Given the description of an element on the screen output the (x, y) to click on. 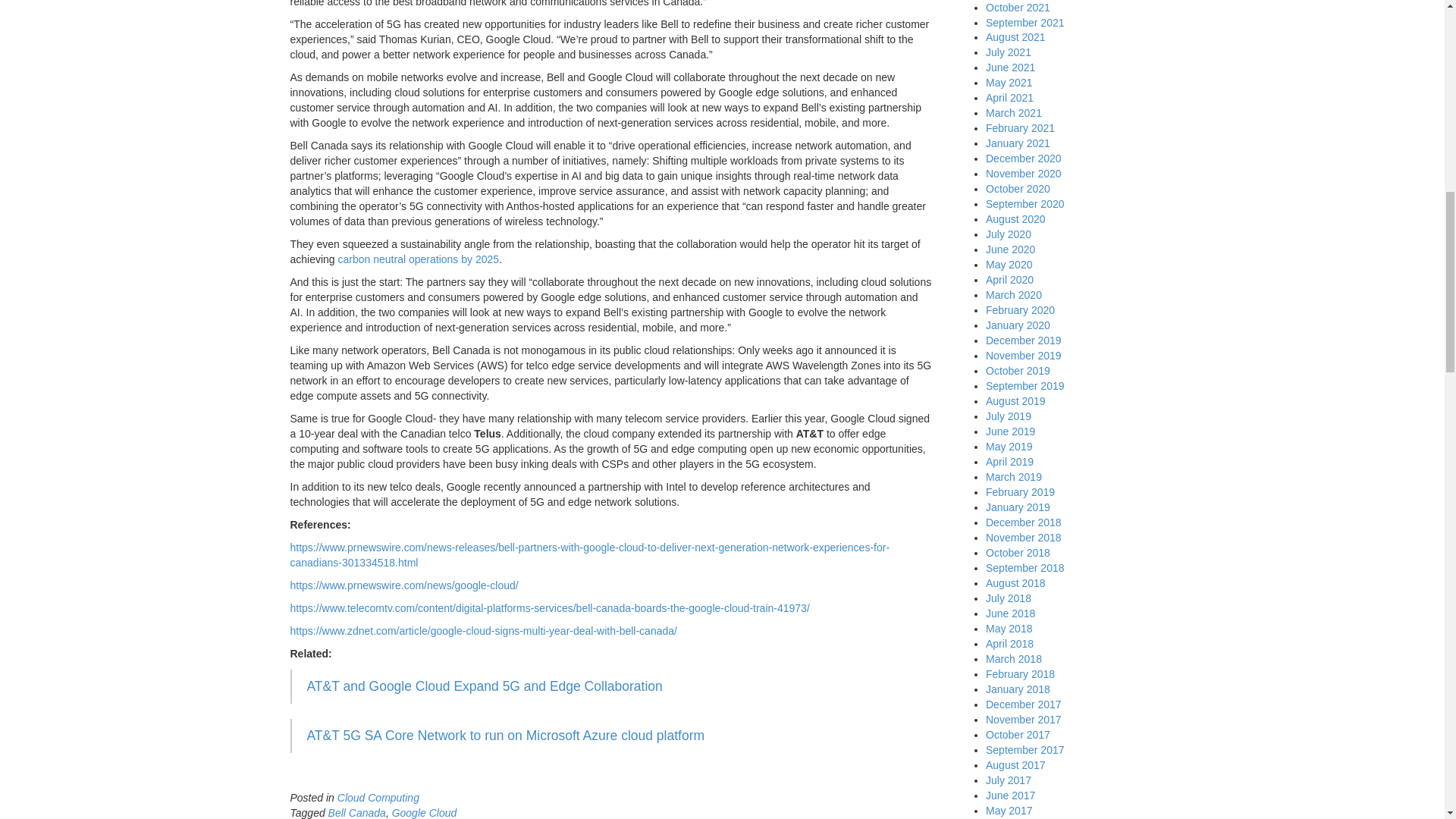
Bell Canada (357, 812)
Cloud Computing (378, 797)
carbon neutral operations by 2025 (418, 259)
Google Cloud (424, 812)
